Given the description of an element on the screen output the (x, y) to click on. 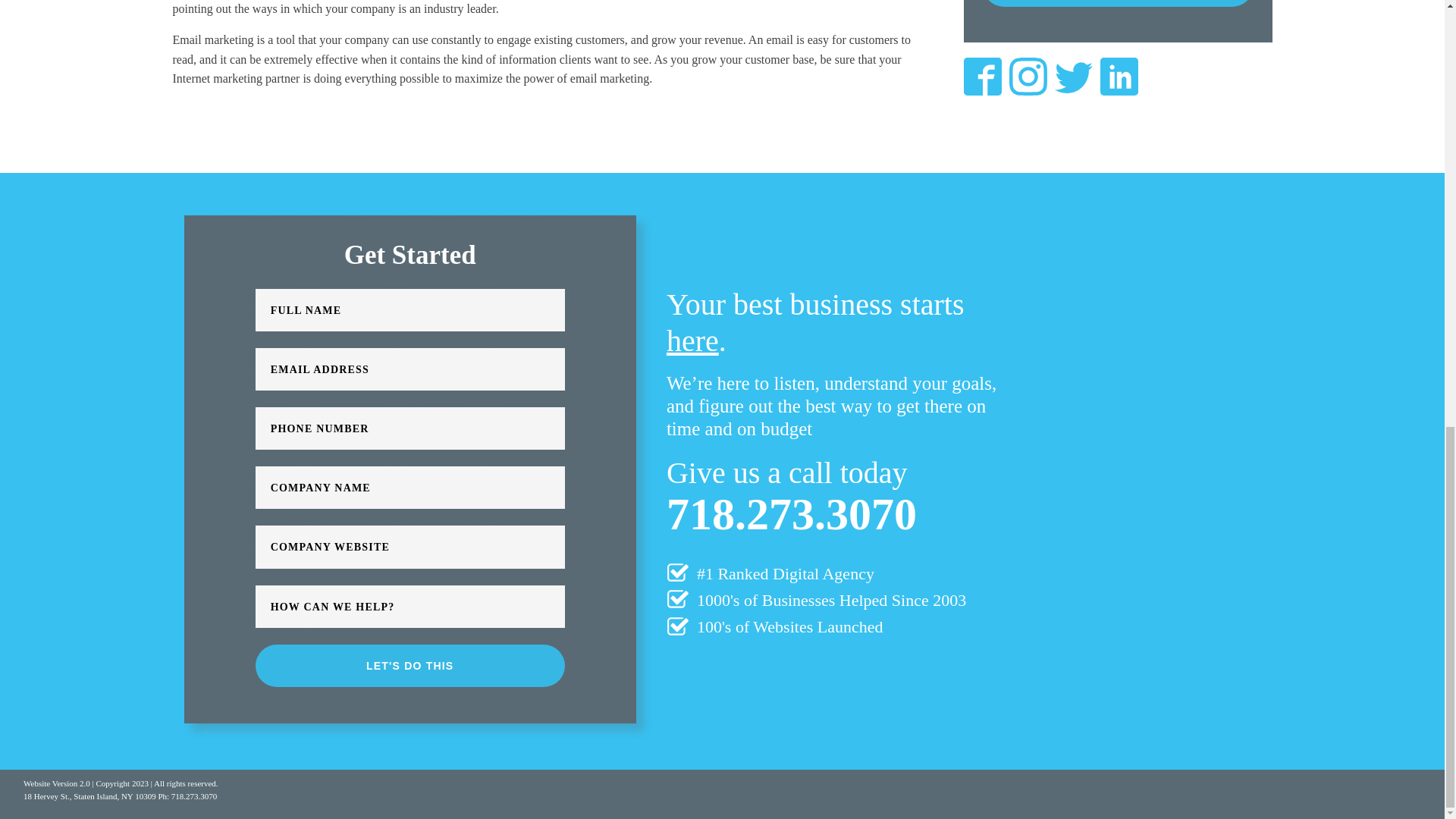
Let's Do This (410, 665)
Let's Do This (1117, 3)
